Given the description of an element on the screen output the (x, y) to click on. 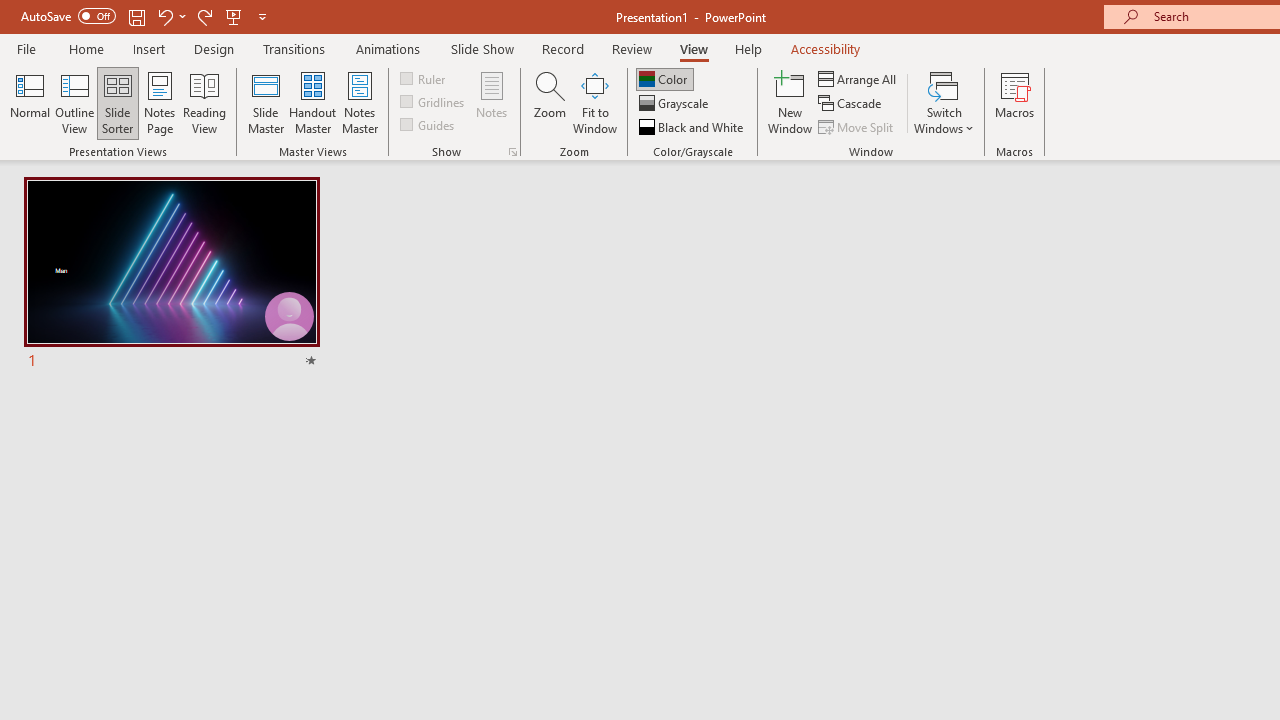
Macros (1014, 102)
Switch Windows (943, 102)
Fit to Window (594, 102)
Ruler (423, 78)
Cascade (851, 103)
